Given the description of an element on the screen output the (x, y) to click on. 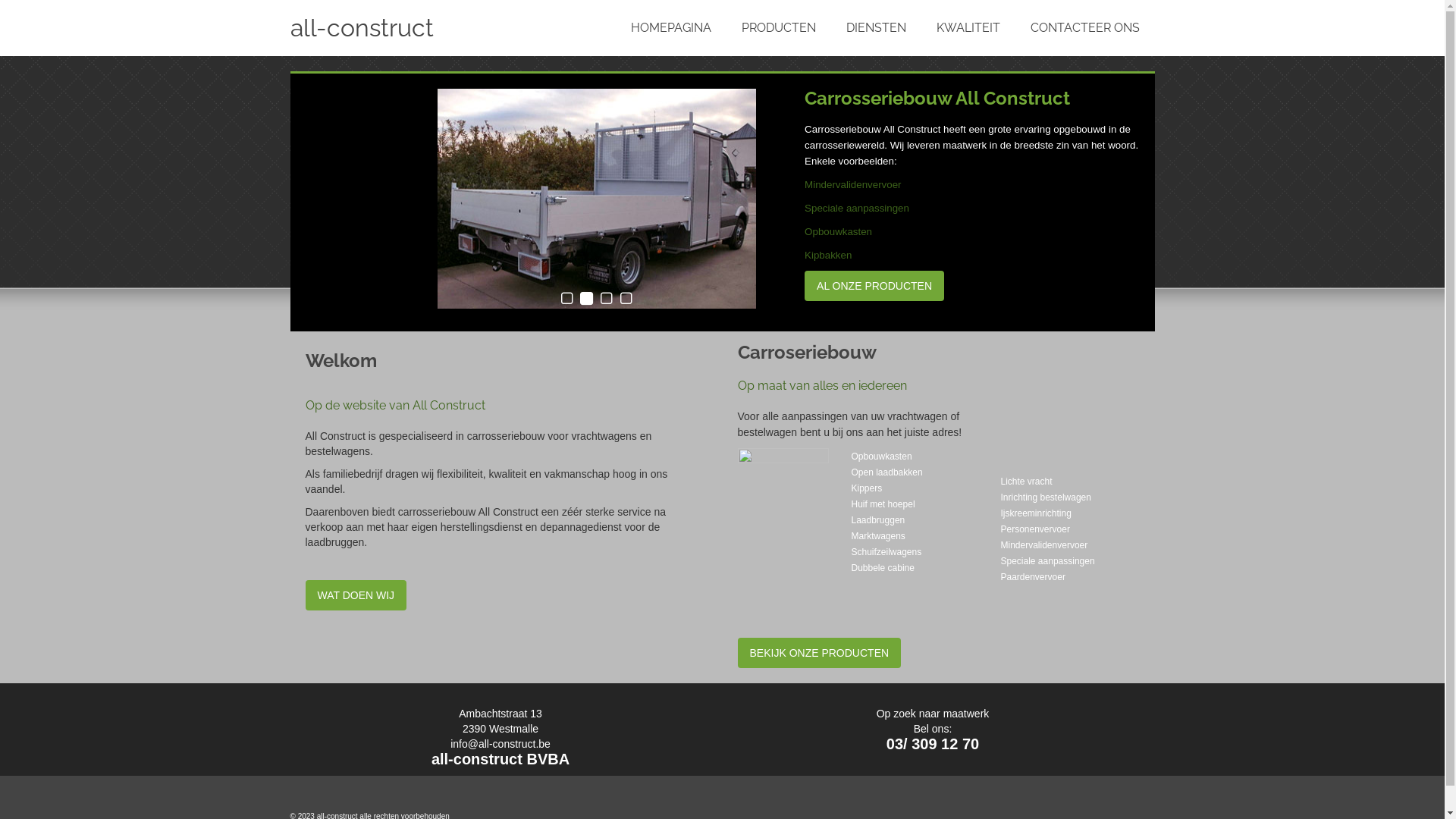
BEKIJK ONZE PRODUCTEN Element type: text (818, 652)
DIENSTEN Element type: text (876, 28)
CONTACTEER ONS Element type: text (1084, 28)
AL ONZE PRODUCTEN Element type: text (874, 285)
HOMEPAGINA Element type: text (670, 28)
WAT DOEN WIJ Element type: text (355, 595)
KWALITEIT Element type: text (967, 28)
PRODUCTEN Element type: text (778, 28)
all-construct Element type: text (425, 28)
